Given the description of an element on the screen output the (x, y) to click on. 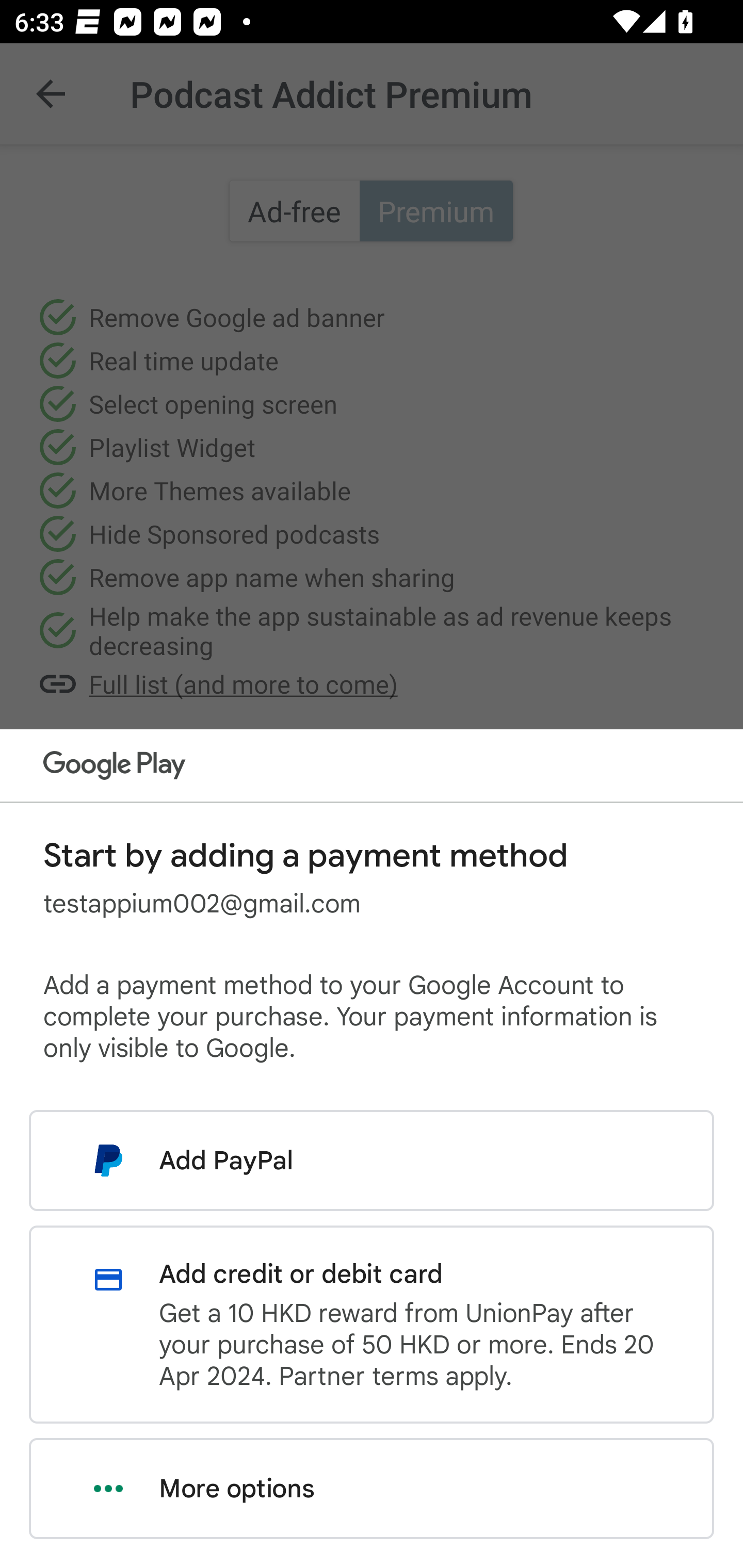
Add PayPal (371, 1160)
More options (371, 1488)
